Given the description of an element on the screen output the (x, y) to click on. 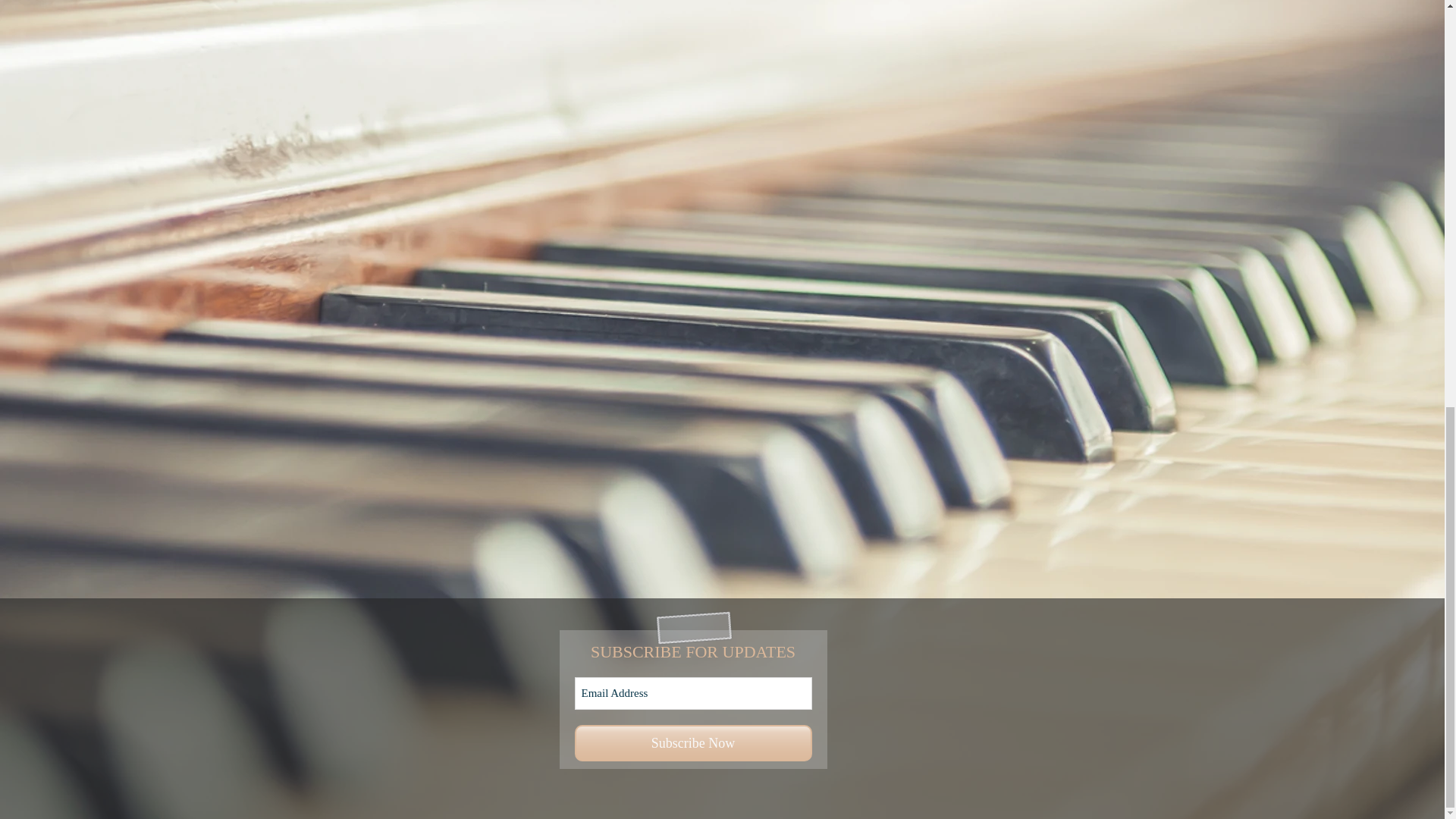
Subscribe Now (693, 742)
